Given the description of an element on the screen output the (x, y) to click on. 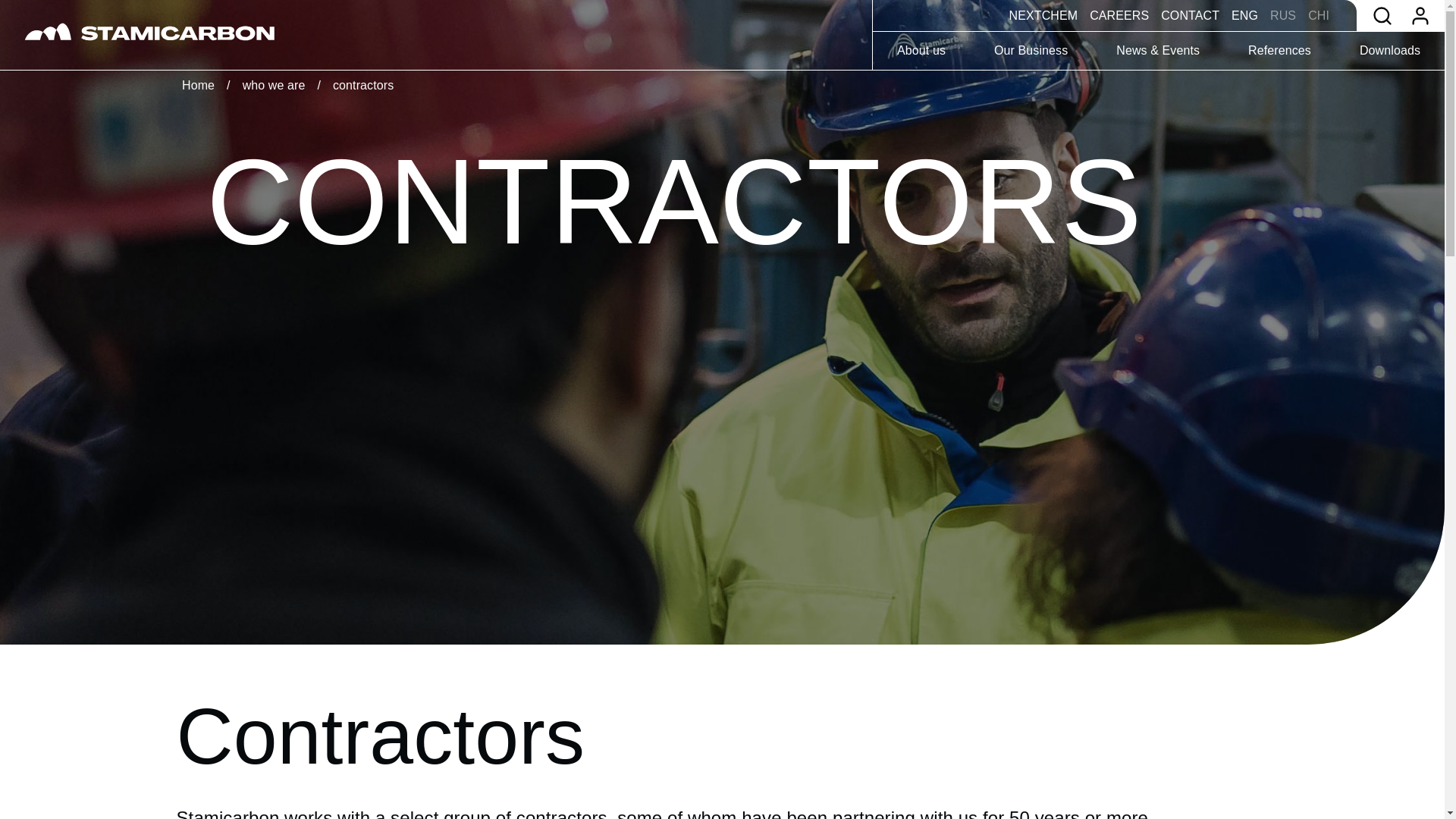
CONTACT (1190, 15)
CAREERS (1118, 15)
CHI (1318, 15)
RUS (1282, 15)
NEXTCHEM (1043, 15)
ENG (1244, 15)
